Given the description of an element on the screen output the (x, y) to click on. 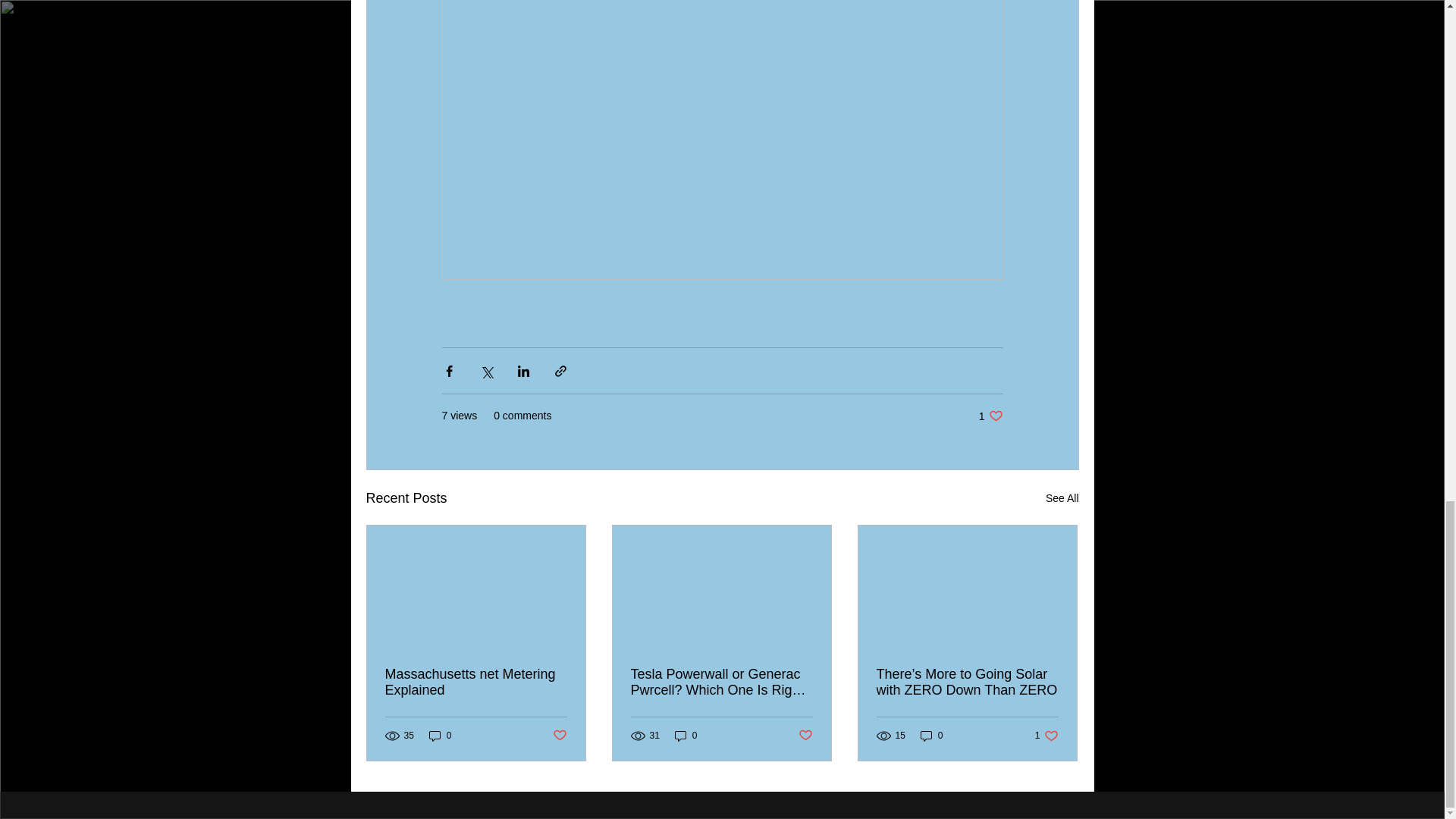
See All (1061, 498)
Post not marked as liked (804, 734)
0 (931, 735)
Massachusetts net Metering Explained (476, 682)
0 (1046, 735)
Post not marked as liked (685, 735)
0 (990, 415)
